Given the description of an element on the screen output the (x, y) to click on. 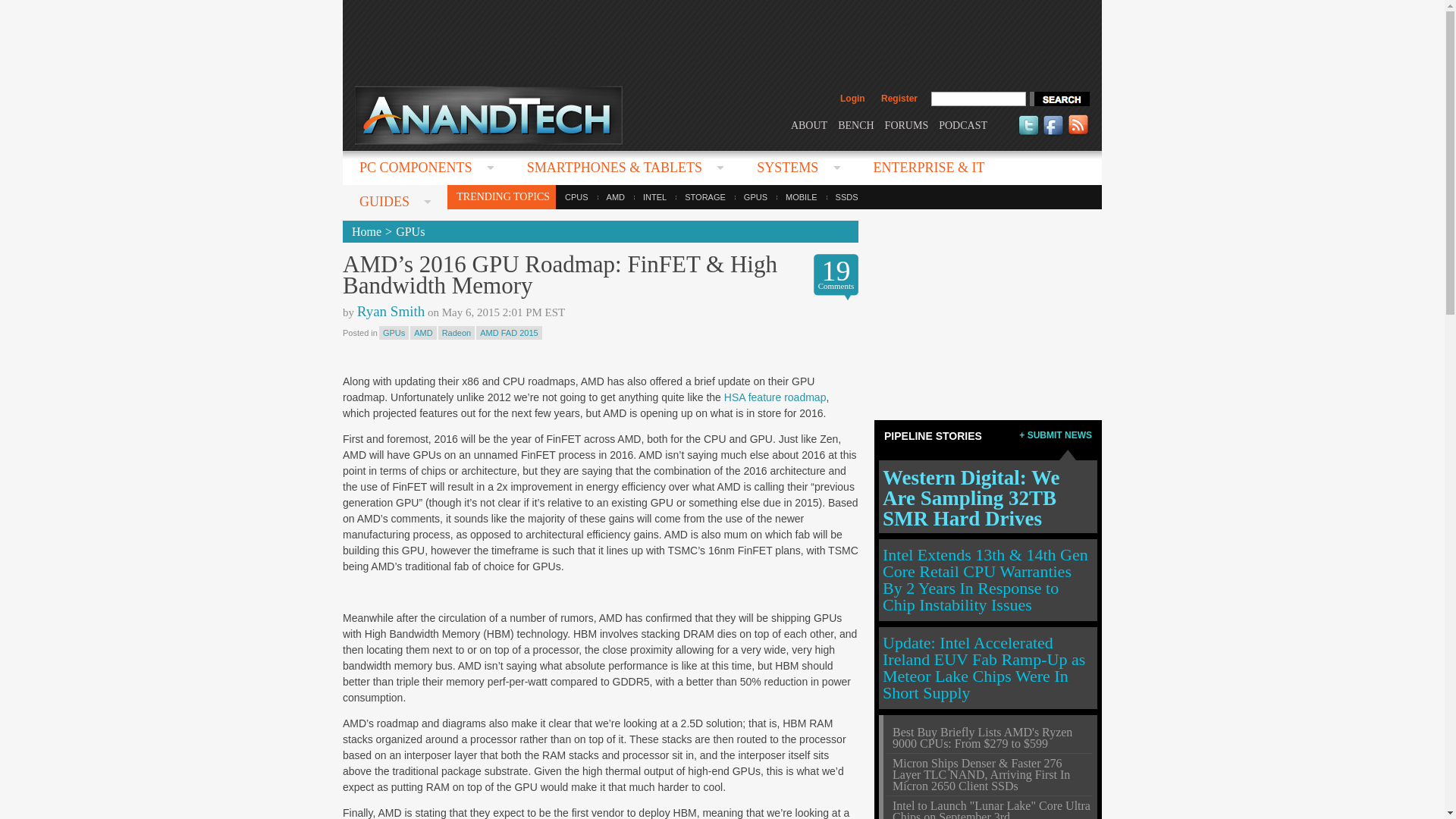
BENCH (855, 125)
Login (852, 98)
ABOUT (808, 125)
Register (898, 98)
FORUMS (906, 125)
search (1059, 98)
PODCAST (963, 125)
search (1059, 98)
search (1059, 98)
